Given the description of an element on the screen output the (x, y) to click on. 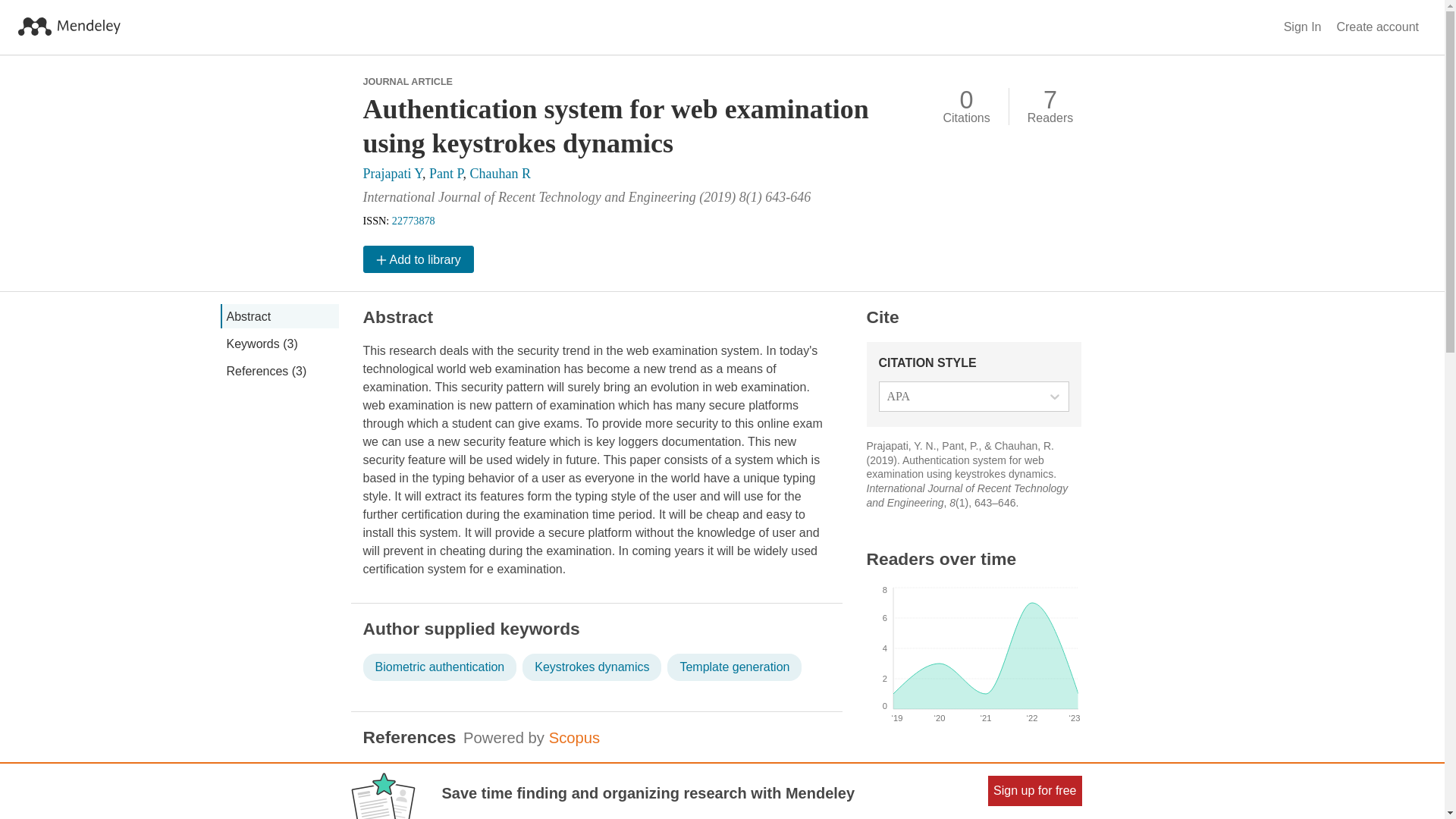
Lin C (374, 806)
22773878 (413, 220)
Sign In (1303, 27)
Template generation (734, 666)
Prajapati Y (392, 173)
Wen L (409, 806)
Add to library (417, 258)
Create account (1377, 27)
Keystrokes dynamics (591, 666)
